Given the description of an element on the screen output the (x, y) to click on. 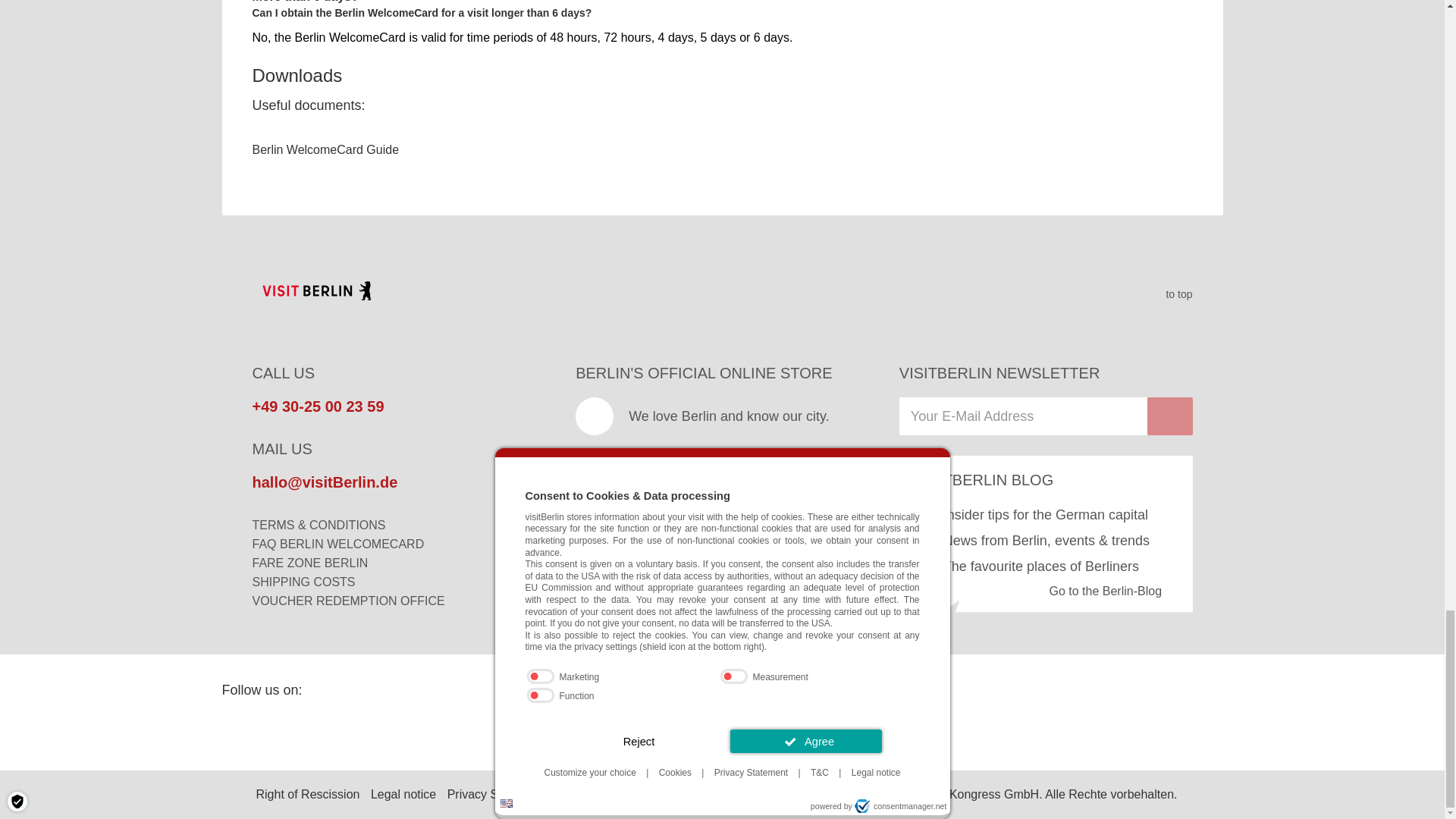
FAQ Berlin WelcomeCard (337, 543)
Subscribe (1169, 415)
Voucher Redemption Office (347, 600)
Sign up for our newsletter (1023, 415)
Fare Zone Berlin (309, 562)
Shipping Costs (303, 581)
